Given the description of an element on the screen output the (x, y) to click on. 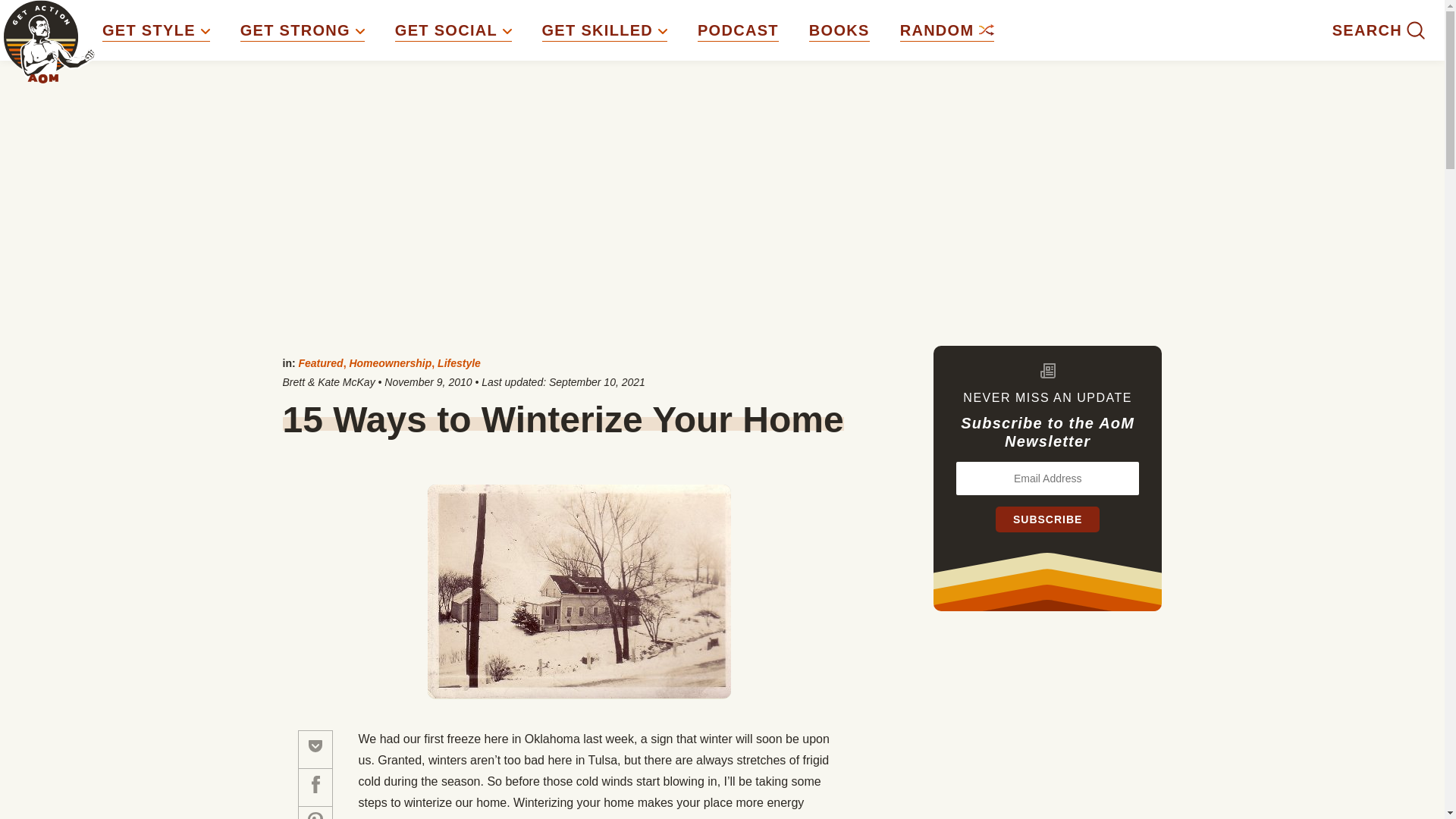
GET SKILLED (603, 30)
GET STRONG (302, 30)
BOOKS (839, 30)
house (579, 591)
Subscribe (1047, 519)
RANDOM (946, 30)
PODCAST (737, 30)
GET STYLE (155, 30)
GET SOCIAL (453, 30)
